Given the description of an element on the screen output the (x, y) to click on. 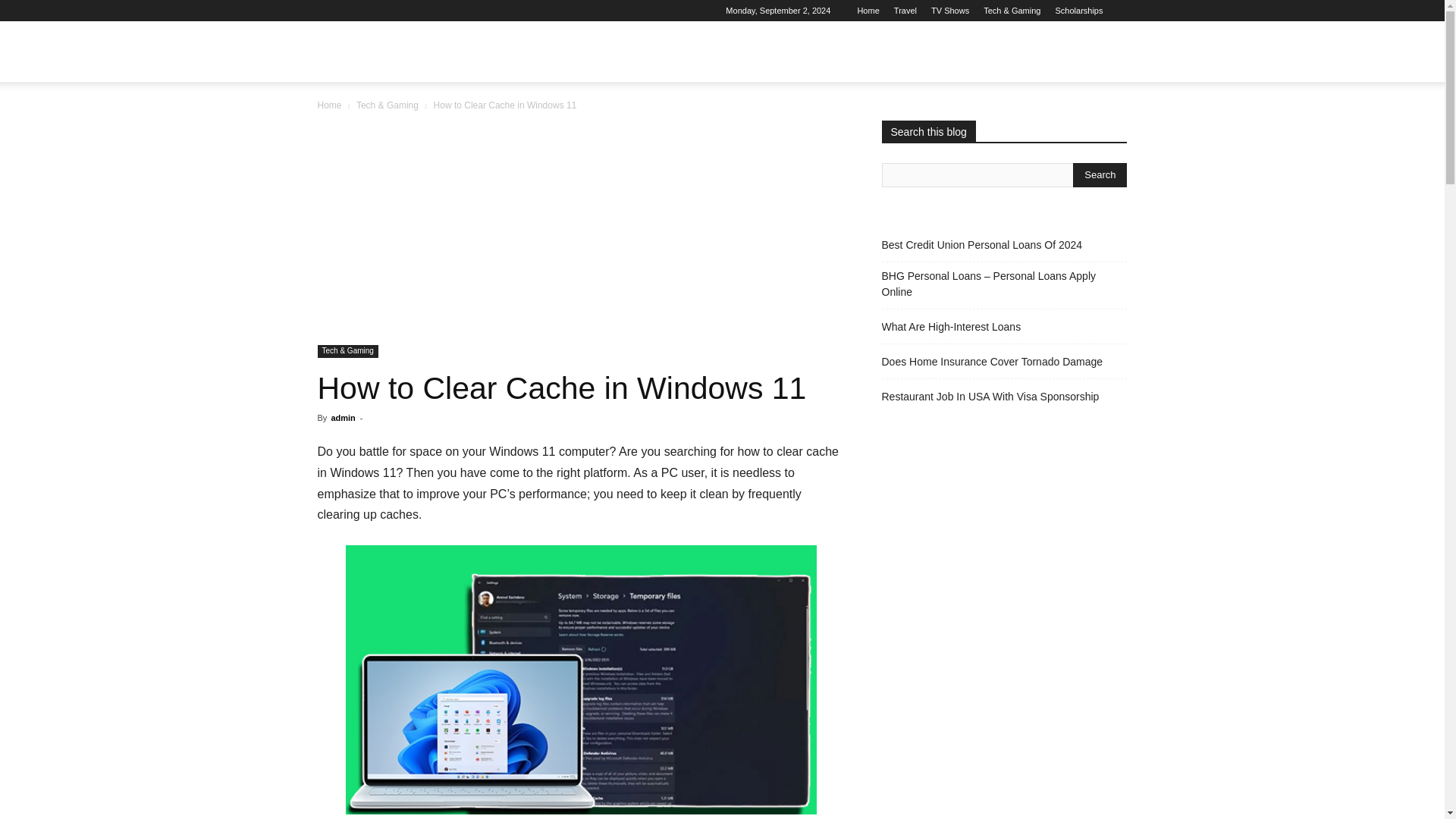
TRAVEL (544, 51)
Search (1085, 124)
Search (1099, 174)
UrbanTVshows (373, 51)
admin (342, 417)
Travel (905, 10)
SCHOLARSHIPS (814, 51)
Home (868, 10)
TV SHOWS (615, 51)
TV Shows (950, 10)
